Given the description of an element on the screen output the (x, y) to click on. 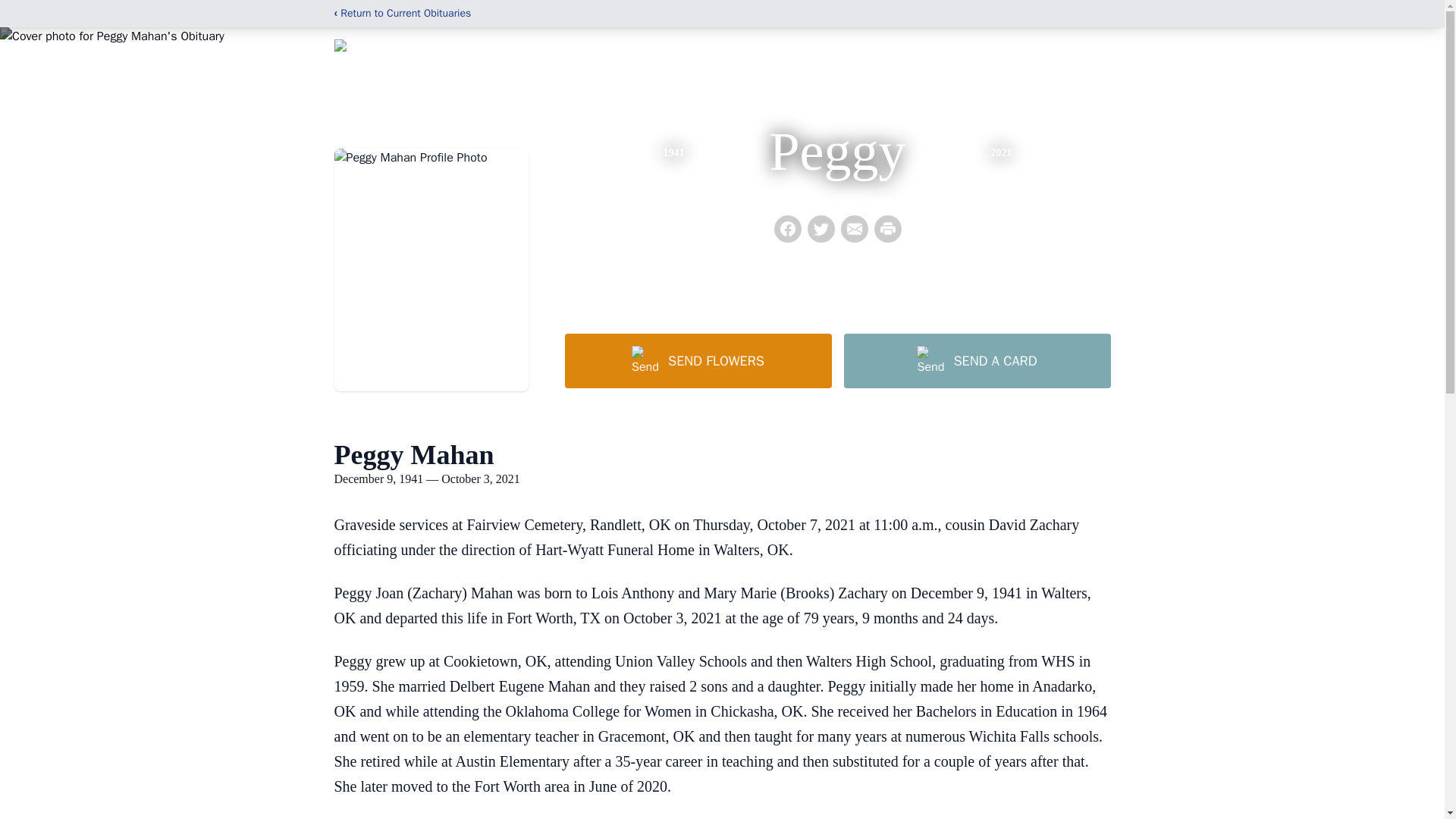
SEND A CARD (976, 360)
SEND FLOWERS (697, 360)
